Given the description of an element on the screen output the (x, y) to click on. 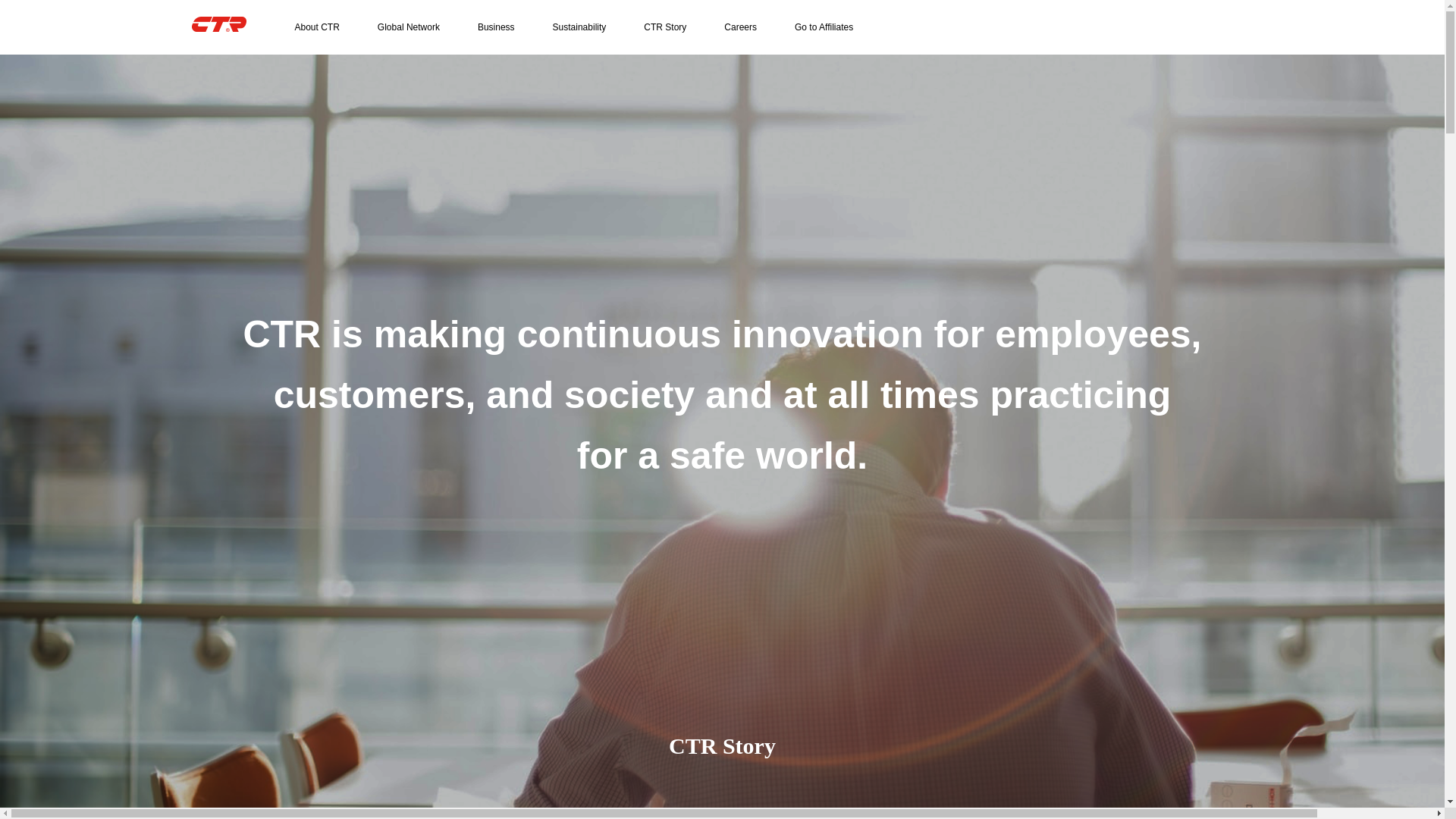
Global Network (408, 27)
Go to Affiliates (823, 27)
About CTR (316, 27)
CTR Story (664, 27)
Business (496, 27)
Careers (740, 27)
Sustainability (580, 27)
